Given the description of an element on the screen output the (x, y) to click on. 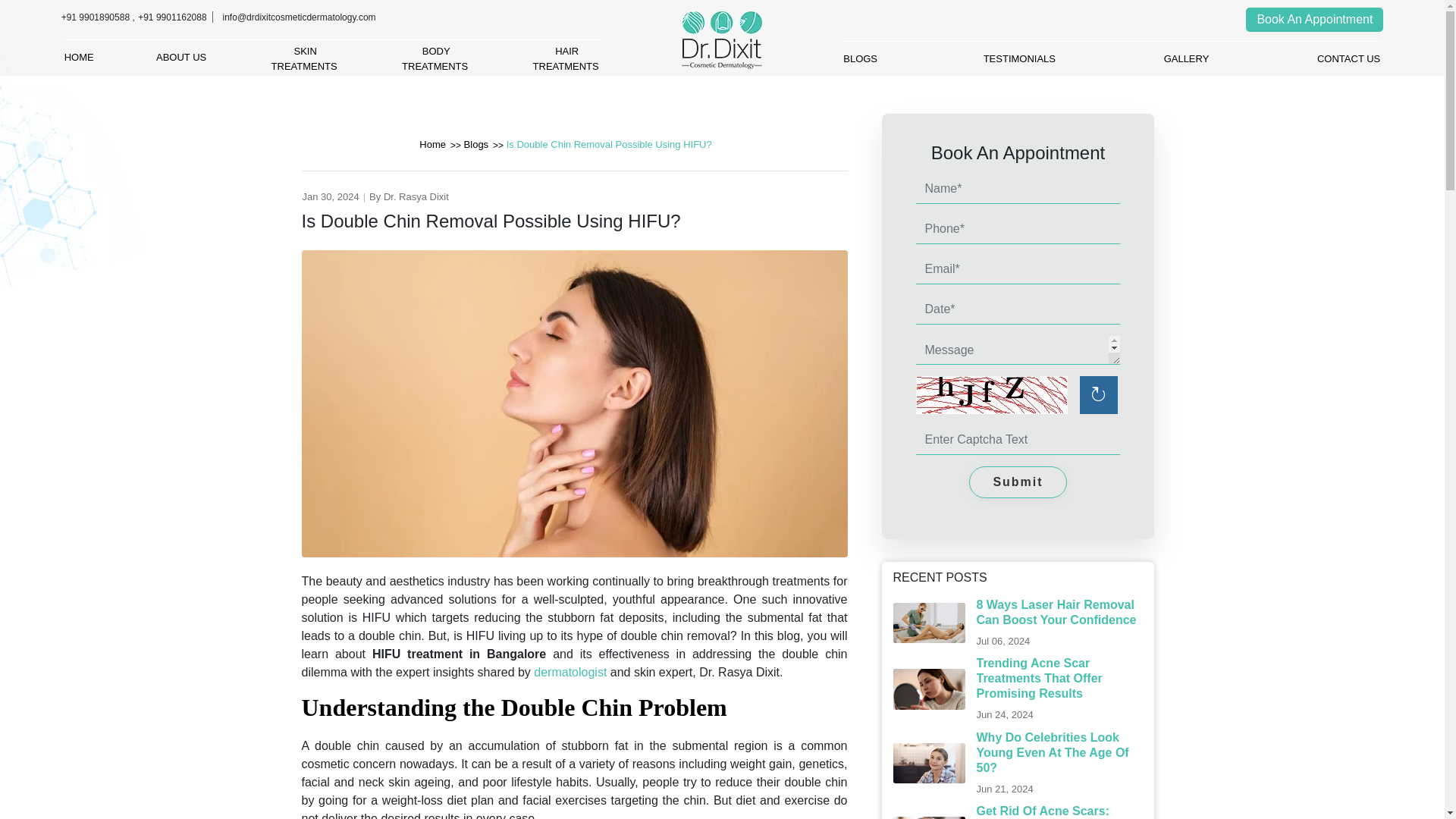
ABOUT US (305, 58)
Book An Appointment (182, 57)
HOME (1314, 19)
